Given the description of an element on the screen output the (x, y) to click on. 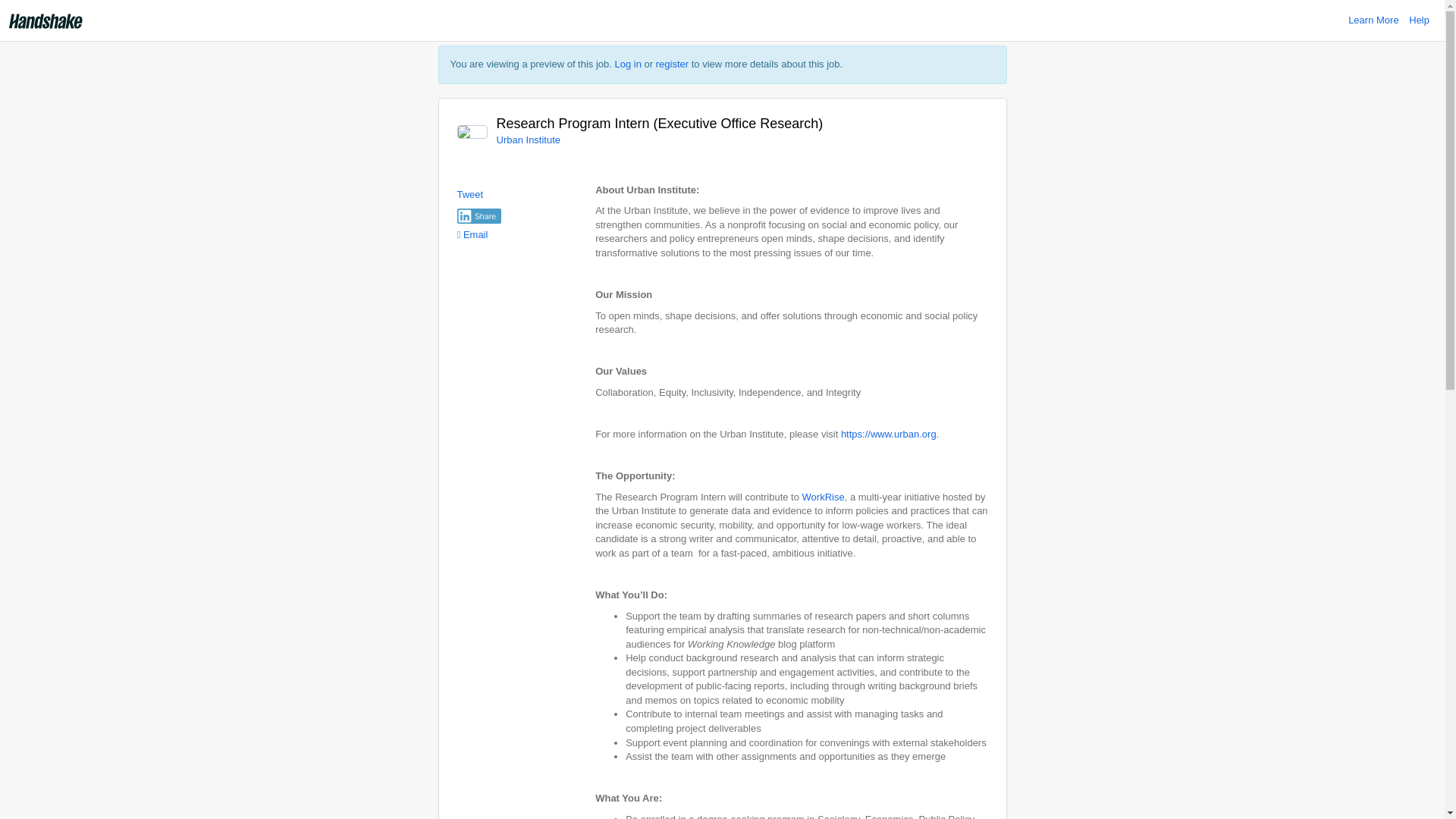
Share (478, 215)
register (672, 63)
Urban Institute (528, 139)
WorkRise (823, 496)
Log in (628, 63)
Help (1419, 19)
Email (472, 234)
Tweet (470, 194)
Share by Email (472, 234)
Learn More (1372, 19)
